Given the description of an element on the screen output the (x, y) to click on. 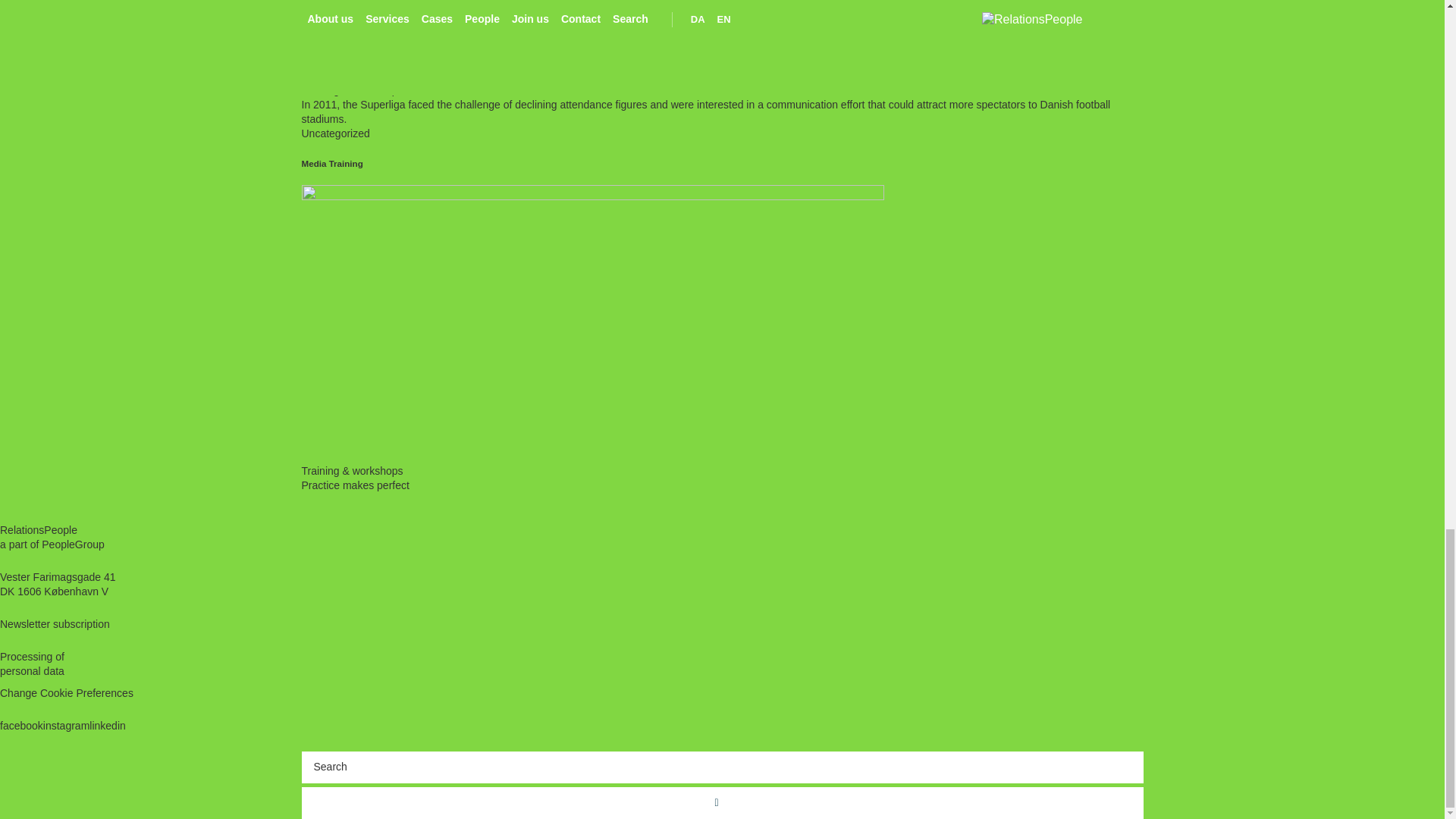
Newsletter subscription (55, 623)
instagram (65, 725)
facebook (21, 725)
Change Cookie Preferences (66, 693)
Processing of (32, 656)
facebook (21, 725)
linkedin (106, 725)
personal data (32, 671)
